Given the description of an element on the screen output the (x, y) to click on. 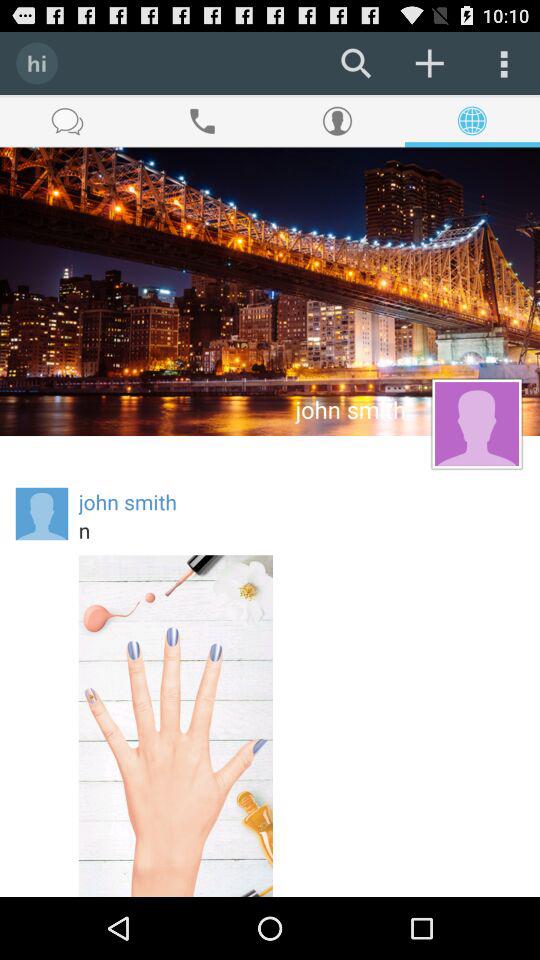
launch the icon at the bottom left corner (175, 725)
